Given the description of an element on the screen output the (x, y) to click on. 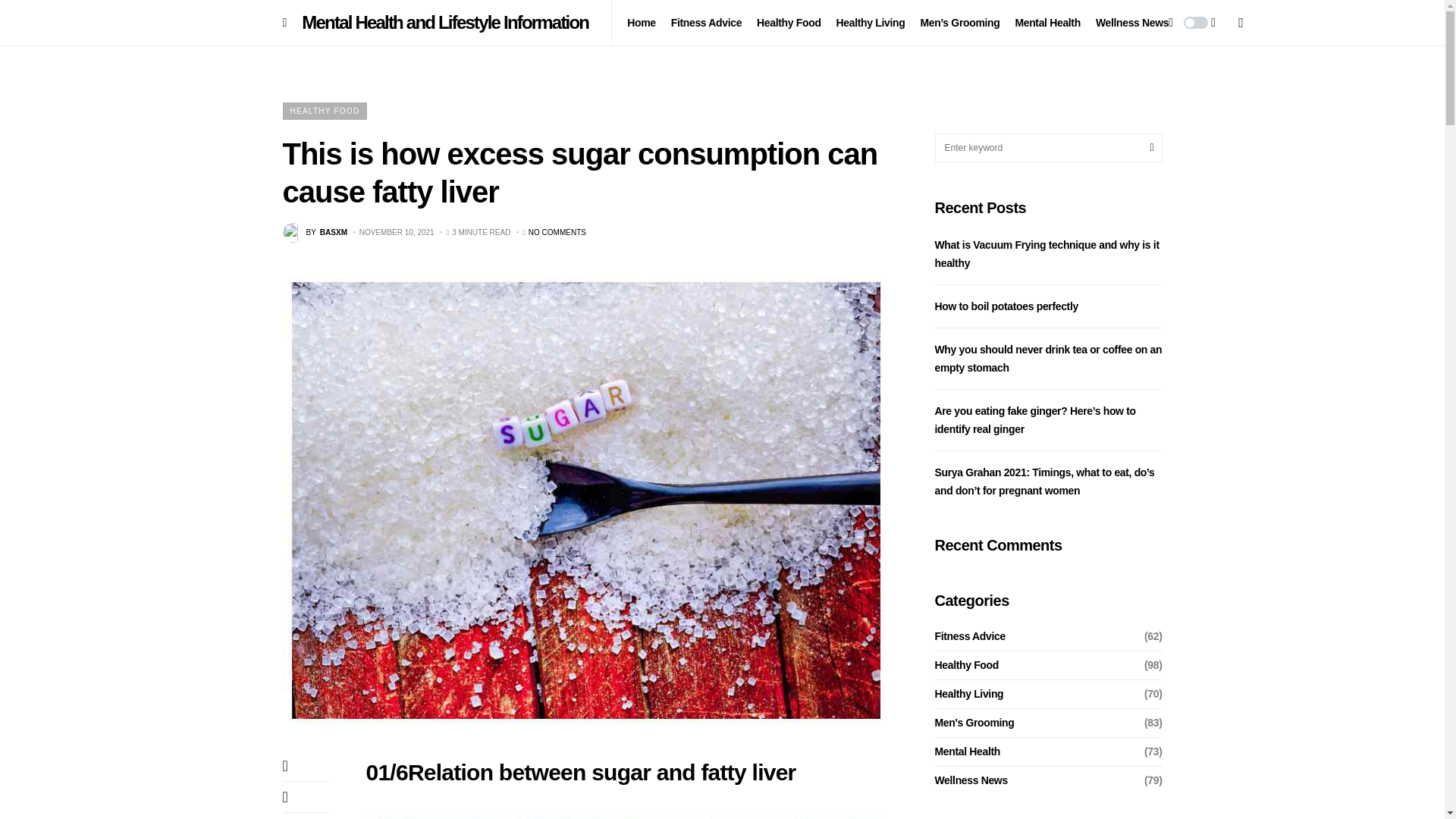
Mental Health and Lifestyle Information (29, 22)
View all posts by basxm (314, 232)
